Given the description of an element on the screen output the (x, y) to click on. 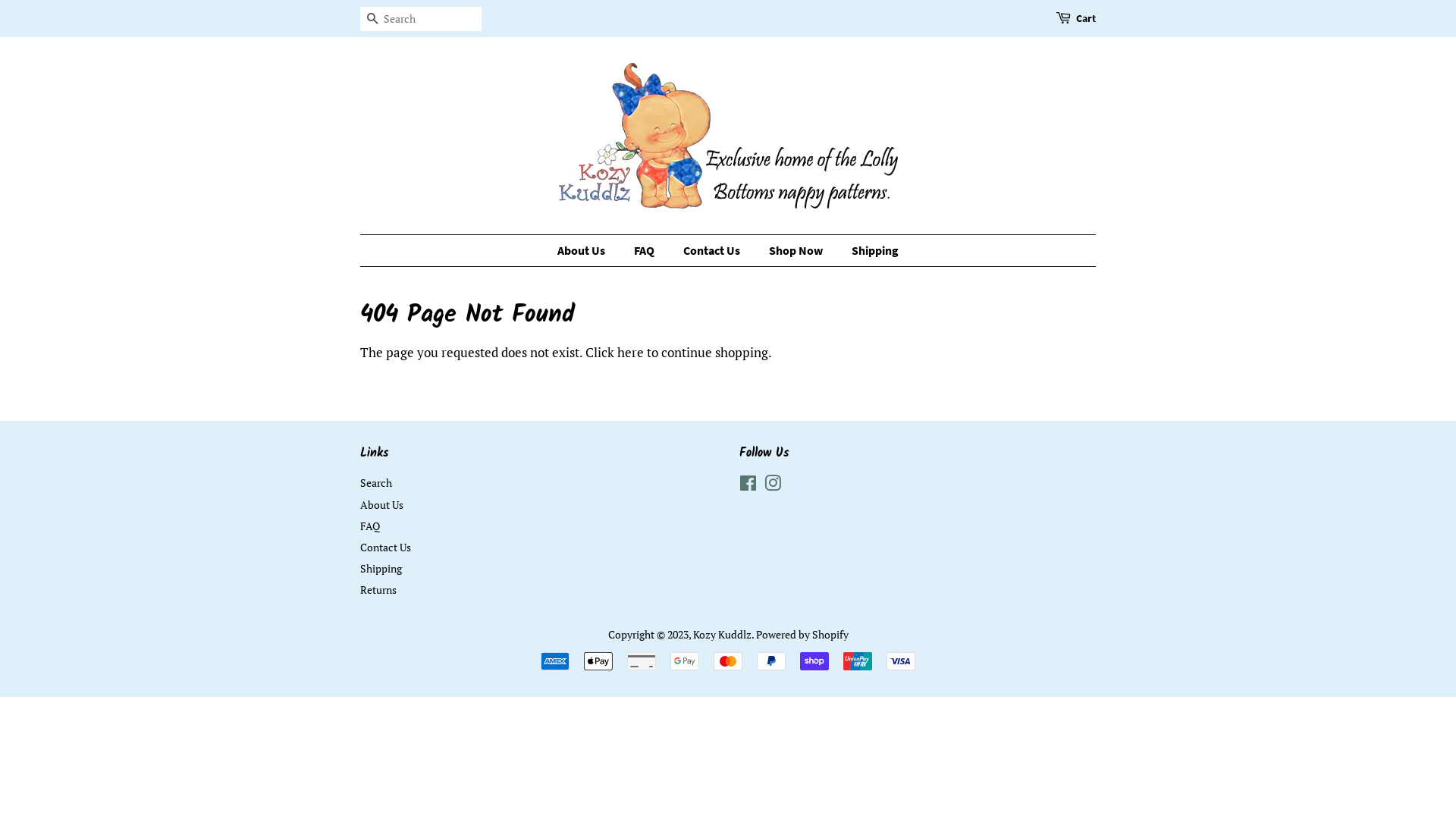
Facebook Element type: text (747, 485)
About Us Element type: text (588, 250)
here Element type: text (630, 351)
Shop Now Element type: text (797, 250)
Contact Us Element type: text (713, 250)
Contact Us Element type: text (385, 546)
Search Element type: text (376, 482)
Search Element type: text (372, 18)
FAQ Element type: text (369, 525)
Returns Element type: text (378, 589)
FAQ Element type: text (645, 250)
Instagram Element type: text (772, 485)
Shipping Element type: text (380, 568)
Cart Element type: text (1085, 18)
Powered by Shopify Element type: text (801, 634)
Kozy Kuddlz Element type: text (722, 634)
About Us Element type: text (381, 504)
Shipping Element type: text (869, 250)
